Given the description of an element on the screen output the (x, y) to click on. 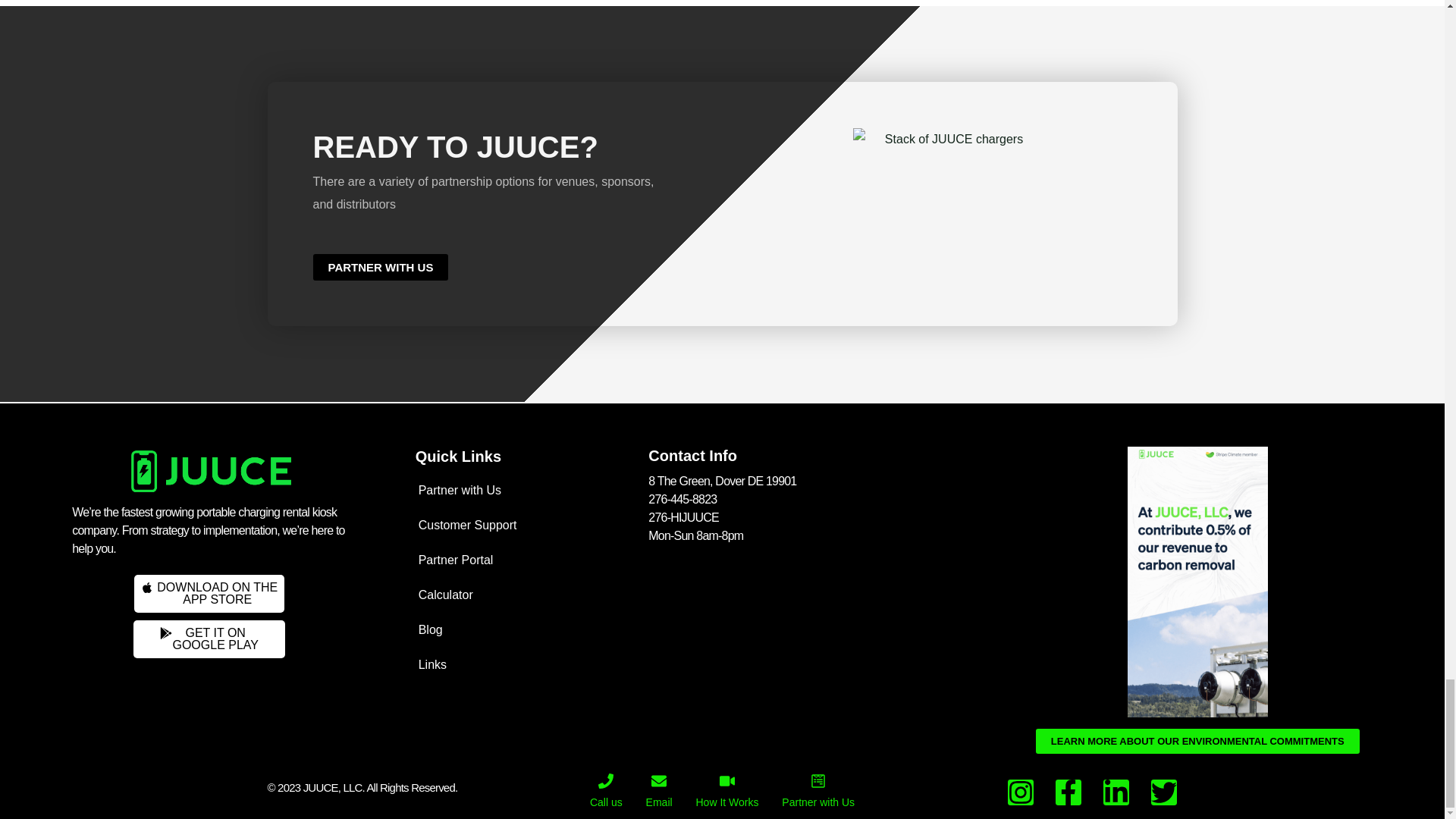
Links (526, 664)
8 the green (209, 638)
Customer Support (819, 616)
PARTNER WITH US (526, 524)
Facebook-f (380, 266)
Blog (1068, 792)
Calculator (526, 629)
Stack of JUUCE chargers (526, 595)
LEARN MORE ABOUT OUR ENVIRONMENTAL COMMITMENTS (947, 138)
Instagram (1197, 740)
Privacy Policy (1020, 792)
Partner Portal (208, 593)
Terms of Service (624, 788)
